Given the description of an element on the screen output the (x, y) to click on. 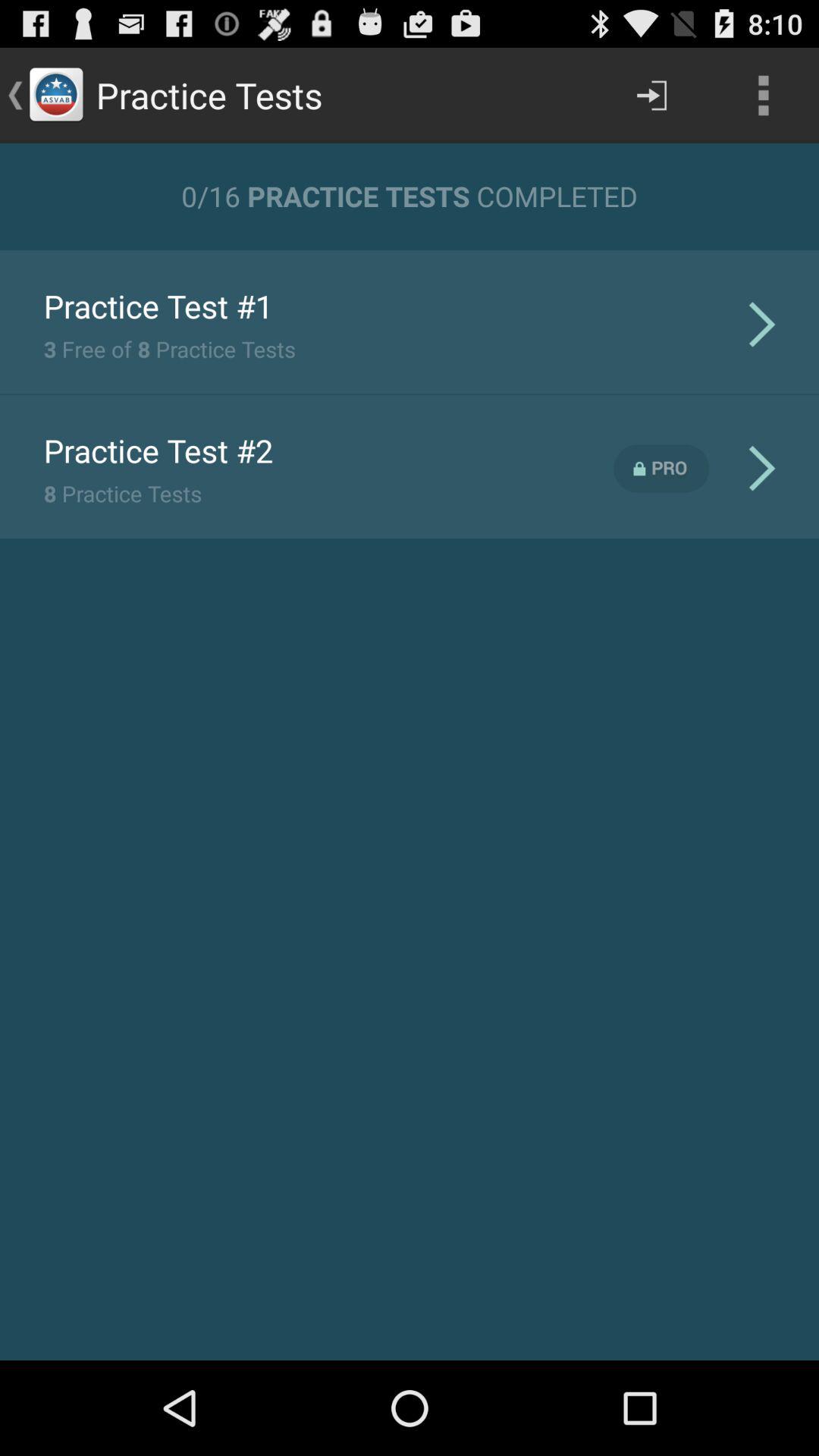
flip to the 3 free of (169, 348)
